Given the description of an element on the screen output the (x, y) to click on. 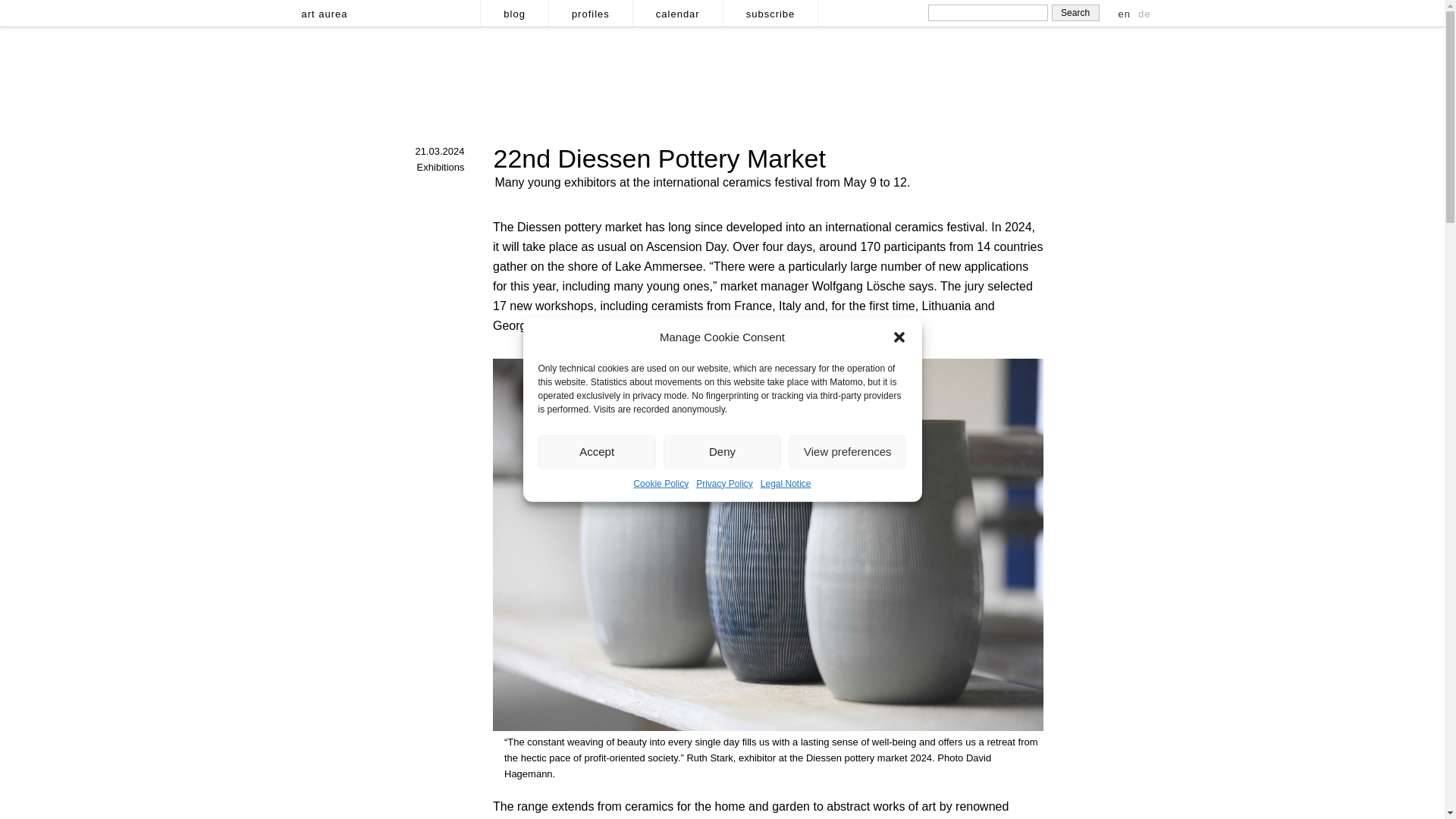
Deny (721, 451)
View preferences (847, 451)
de (1144, 13)
Search (1075, 12)
art aurea (325, 13)
profiles (589, 13)
Search (1075, 12)
subscribe (770, 13)
calendar (676, 13)
Cookie Policy (660, 482)
Legal Notice (785, 482)
blog (514, 13)
Accept (597, 451)
Privacy Policy (723, 482)
